Given the description of an element on the screen output the (x, y) to click on. 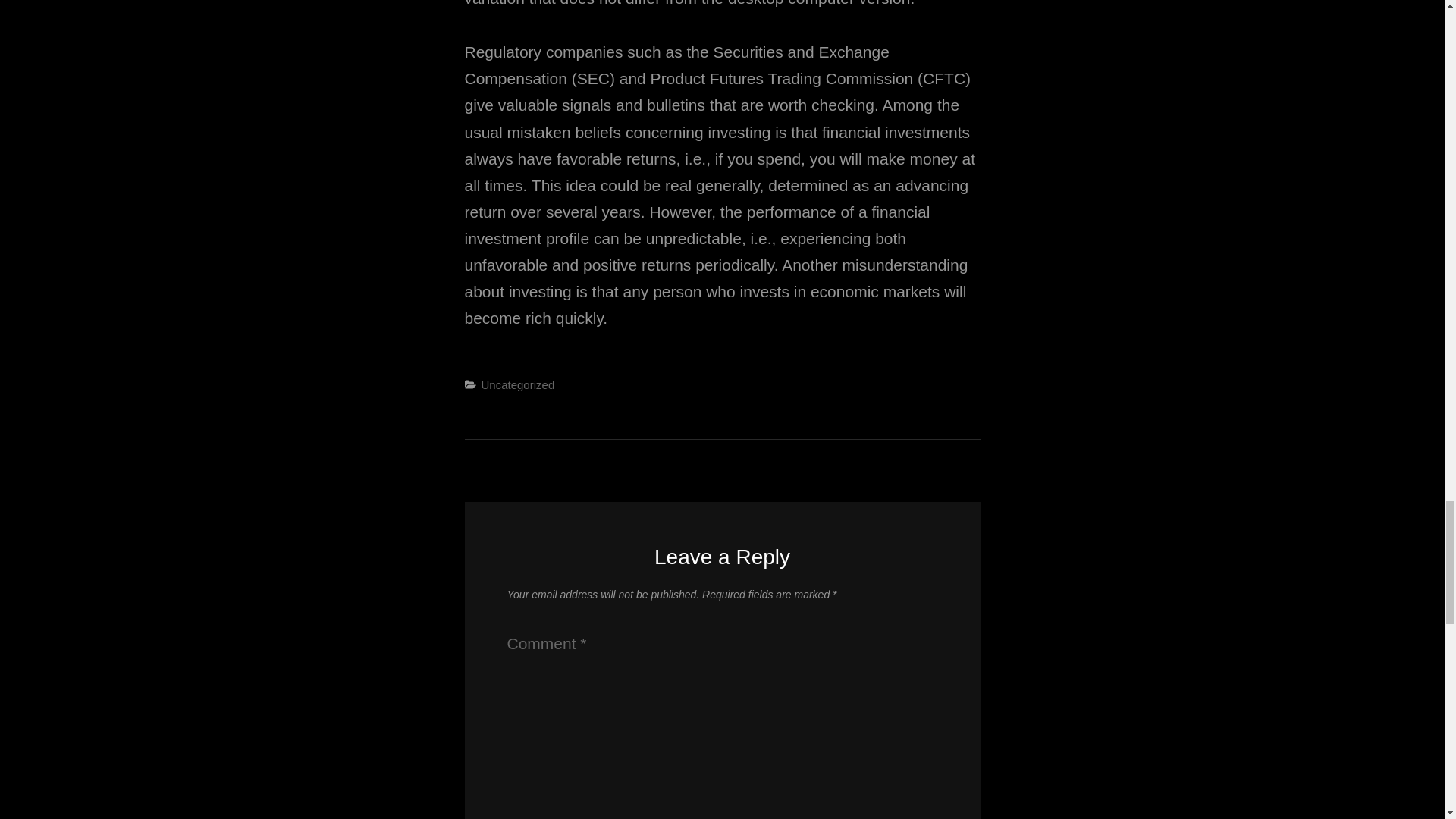
Uncategorized (517, 384)
